Given the description of an element on the screen output the (x, y) to click on. 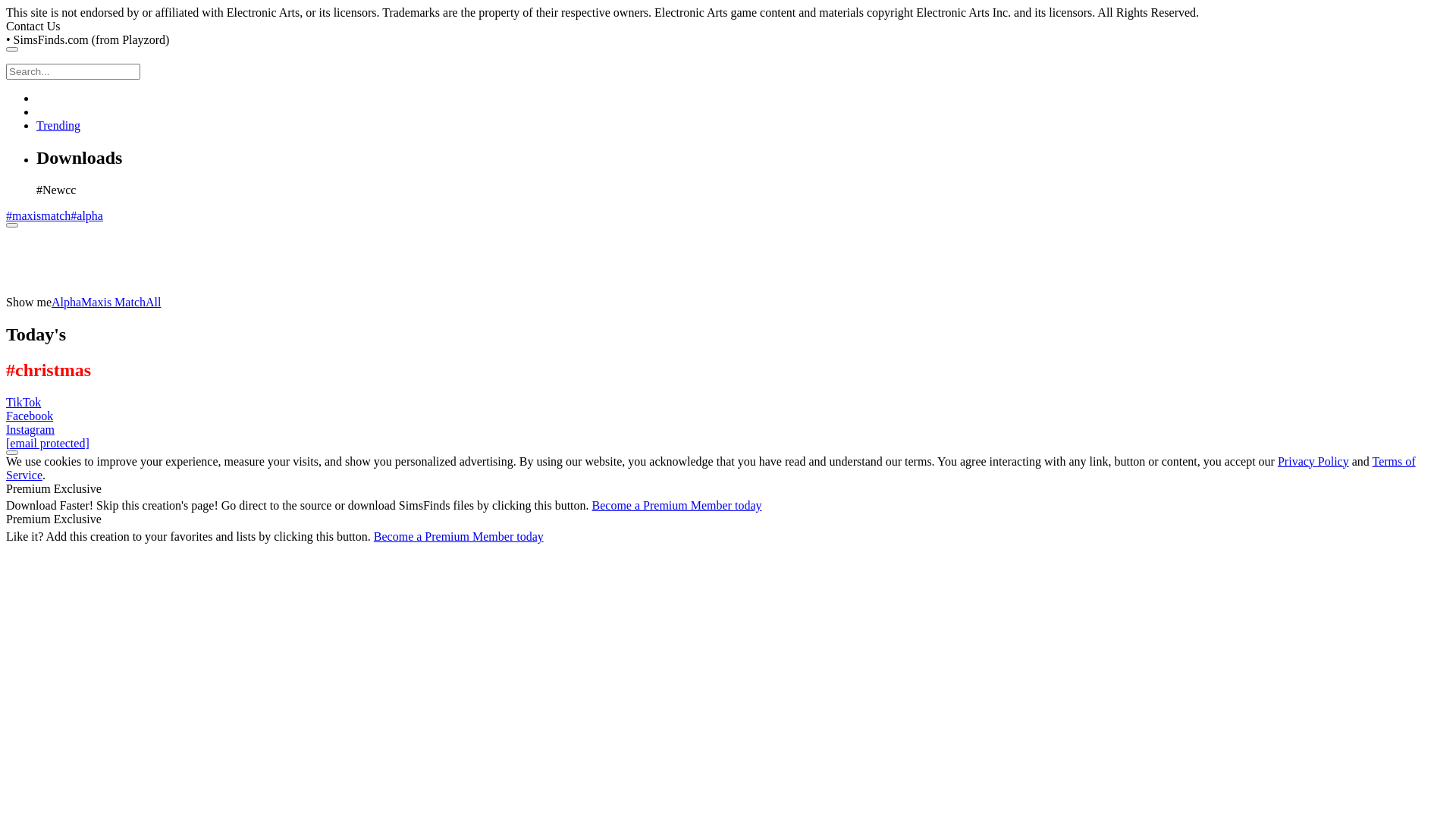
Advertisement Element type: hover (282, 261)
#Newcc Element type: text (55, 189)
Become a Premium Member today Element type: text (677, 504)
#maxismatch Element type: text (38, 215)
Facebook Element type: text (29, 415)
TikTok Element type: text (23, 401)
#alpha Element type: text (86, 215)
Trending Element type: text (58, 125)
All Element type: text (152, 301)
Become a Premium Member today Element type: text (458, 536)
Privacy Policy Element type: text (1313, 461)
[email protected] Element type: text (47, 442)
Instagram Element type: text (30, 429)
Maxis Match Element type: text (113, 301)
Terms of Service Element type: text (710, 468)
Alpha Element type: text (66, 301)
